Given the description of an element on the screen output the (x, y) to click on. 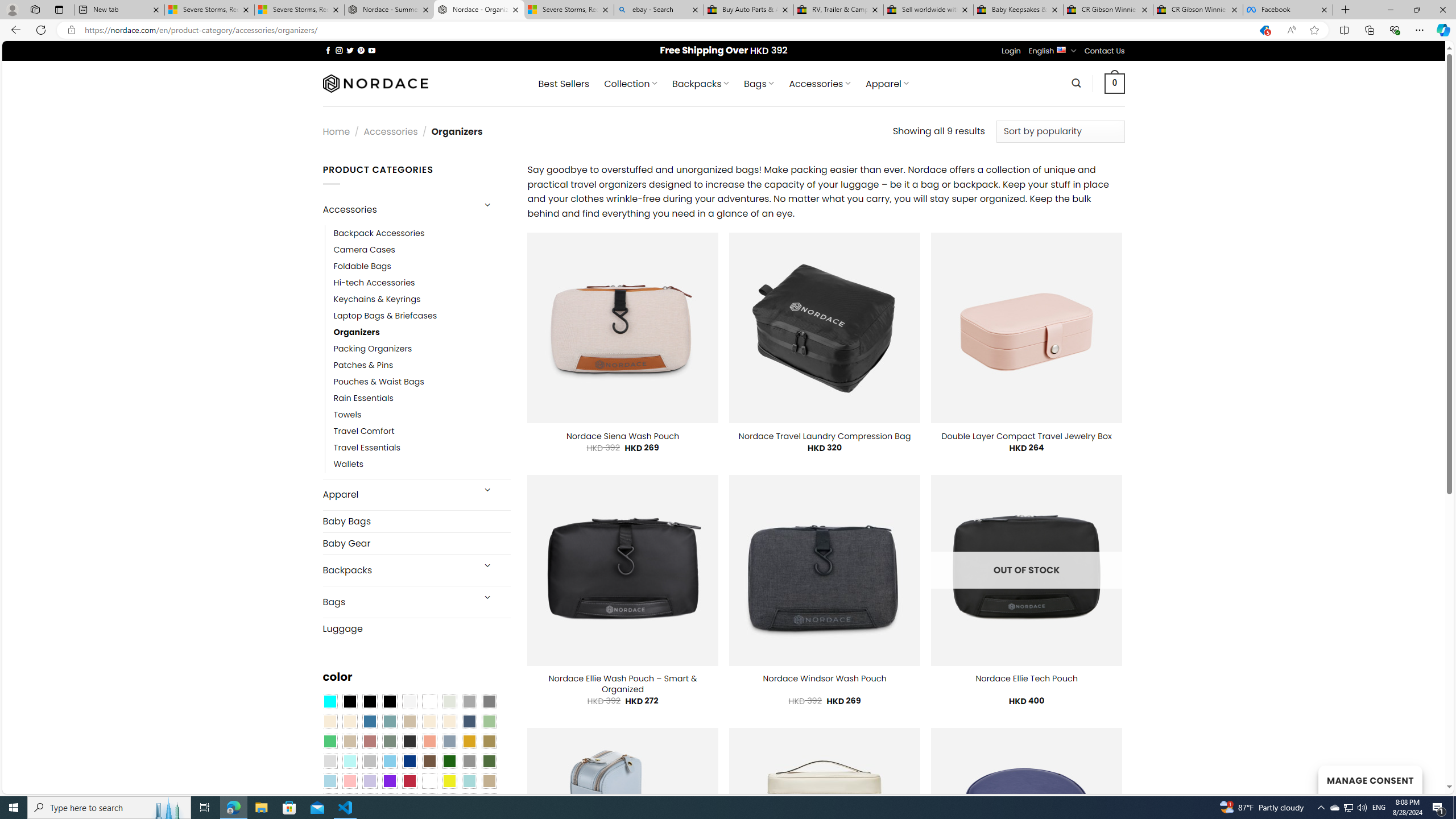
Organizers (422, 332)
Patches & Pins (363, 365)
New tab (118, 9)
Charcoal (408, 741)
Follow on Pinterest (360, 49)
Contact Us (1104, 50)
Login (1010, 50)
Keychains & Keyrings (422, 298)
Follow on Instagram (338, 49)
Buy Auto Parts & Accessories | eBay (747, 9)
Kelp (488, 741)
Add this page to favorites (Ctrl+D) (1314, 29)
 Best Sellers (563, 83)
